Given the description of an element on the screen output the (x, y) to click on. 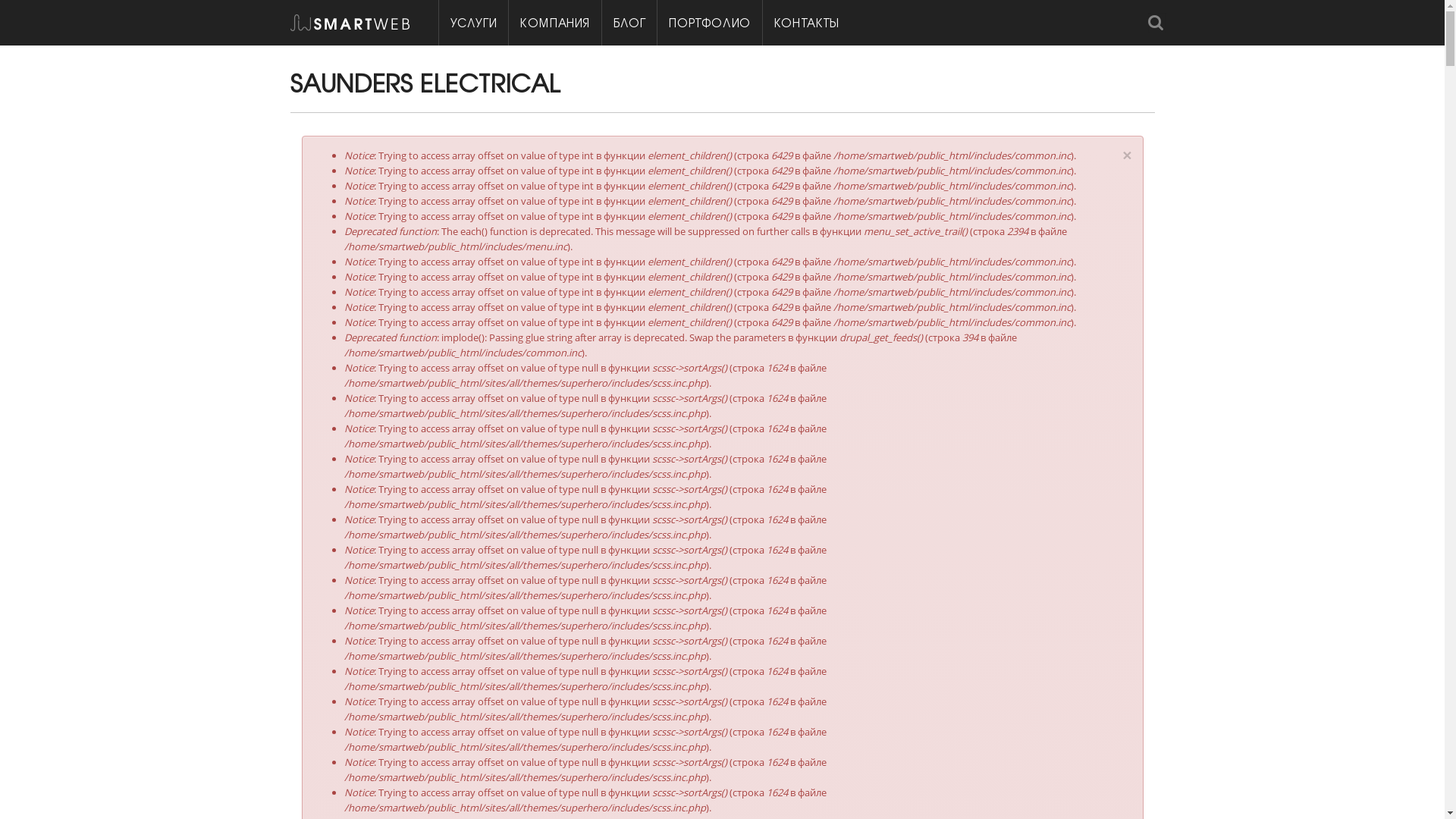
SUBSCRIBE Element type: text (1141, 568)
